Given the description of an element on the screen output the (x, y) to click on. 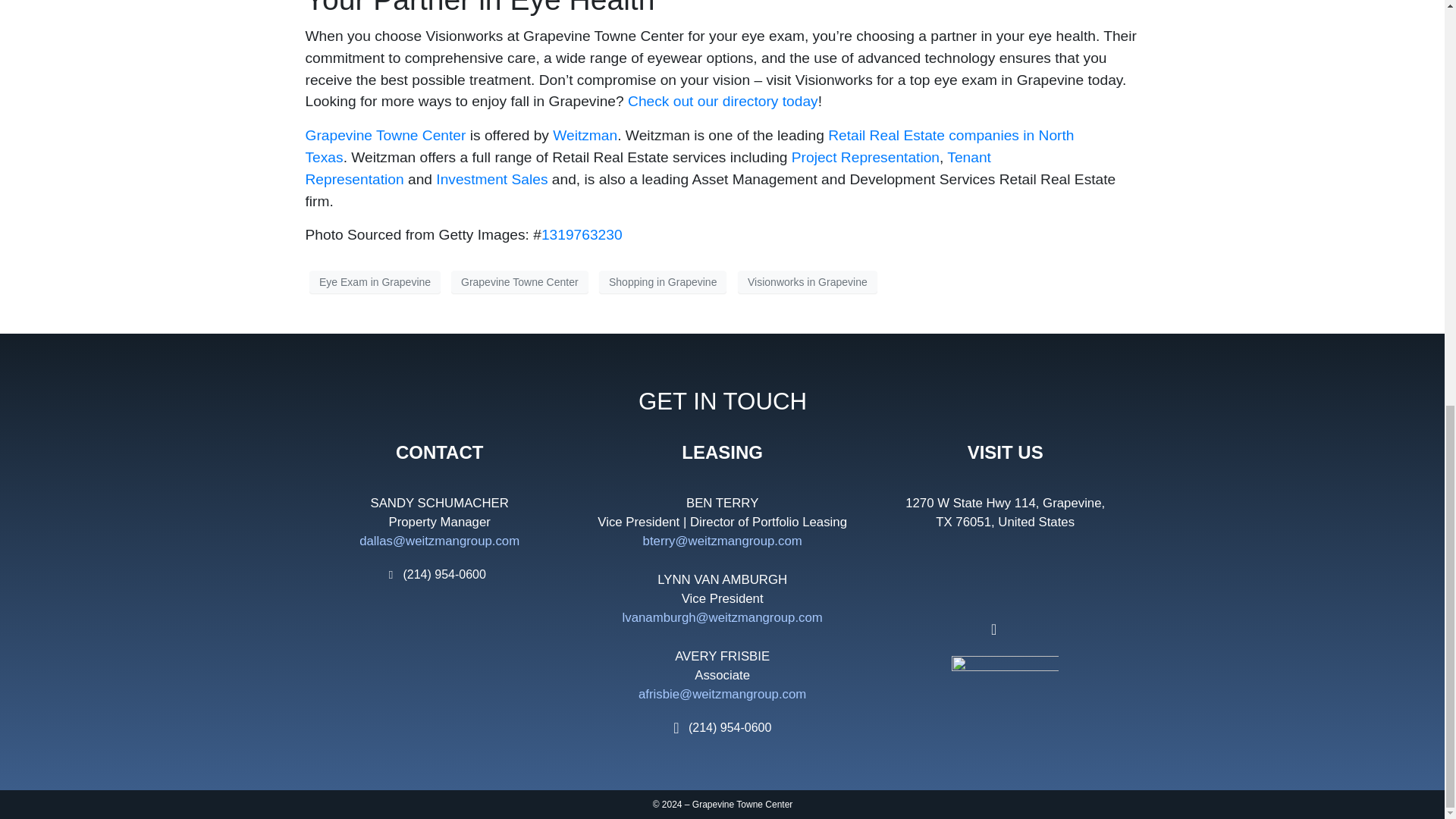
Project Representation (865, 157)
Visionworks in Grapevine (807, 282)
1319763230 (582, 234)
Retail Real Estate companies in North Texas (689, 146)
Tenant Representation (647, 168)
Eye Exam in Grapevine (374, 282)
Grapevine Towne Center (384, 135)
Grapevine Towne Center (519, 282)
Weitzman (585, 135)
Investment Sales (491, 179)
Shopping in Grapevine (662, 282)
Check out our directory today (722, 100)
